Given the description of an element on the screen output the (x, y) to click on. 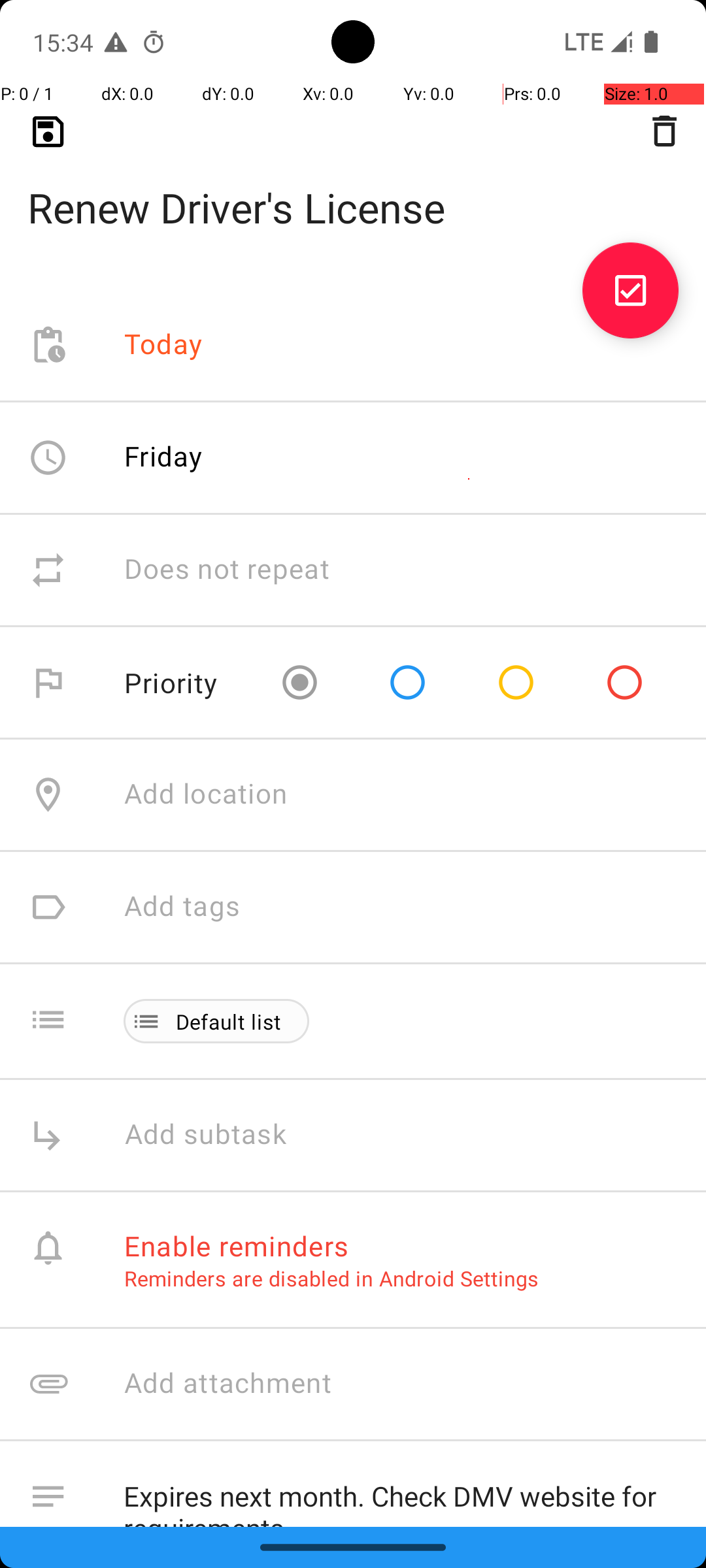
Renew Driver's License Element type: android.widget.EditText (353, 186)
Expires next month. Check DMV website for requirements. Element type: android.widget.EditText (400, 1493)
Add attachment Element type: android.widget.TextView (414, 1383)
Enable reminders Element type: android.widget.TextView (236, 1245)
Reminders are disabled in Android Settings Element type: android.widget.TextView (331, 1278)
